Given the description of an element on the screen output the (x, y) to click on. 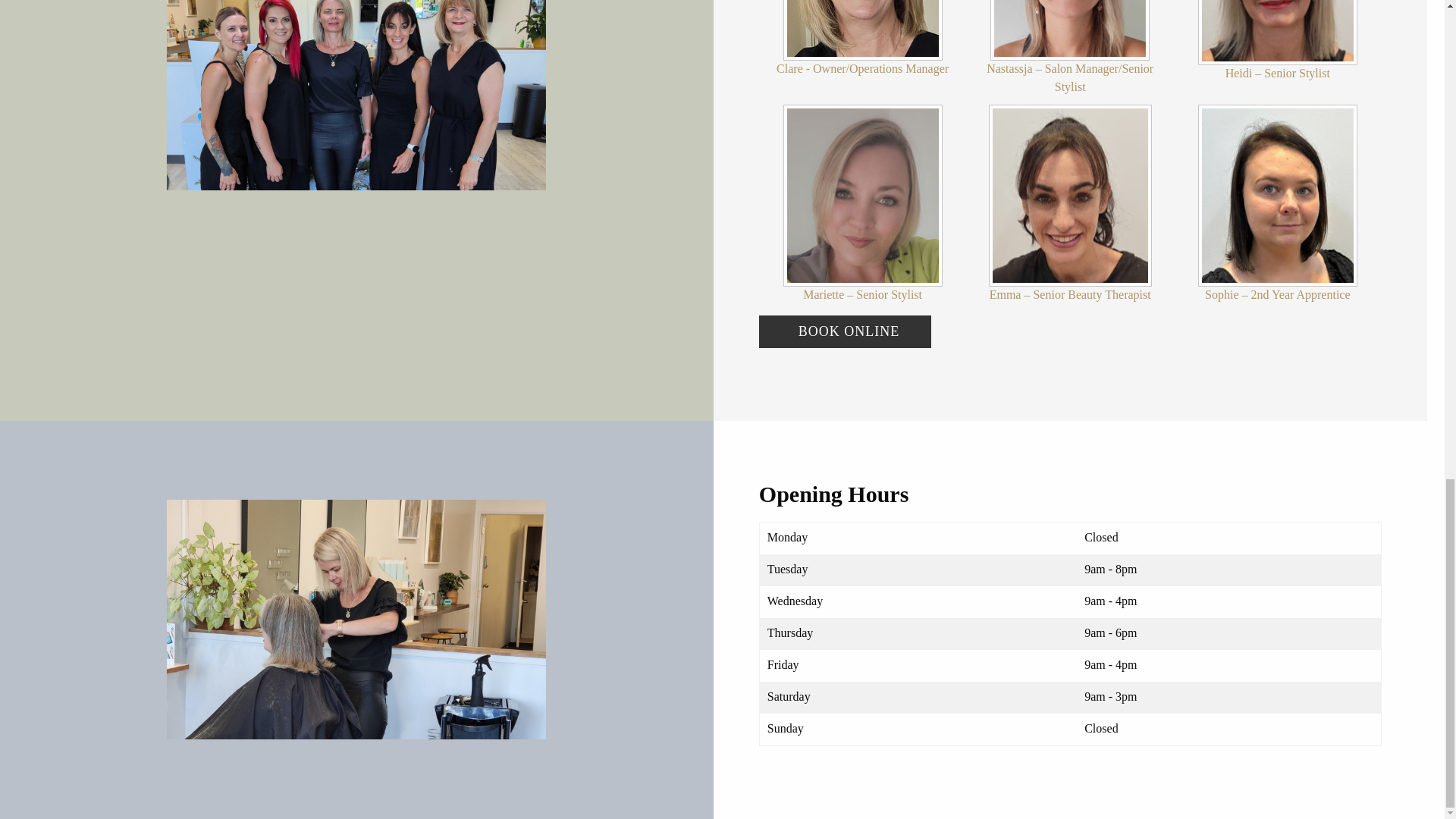
BOOK ONLINE (844, 331)
